Given the description of an element on the screen output the (x, y) to click on. 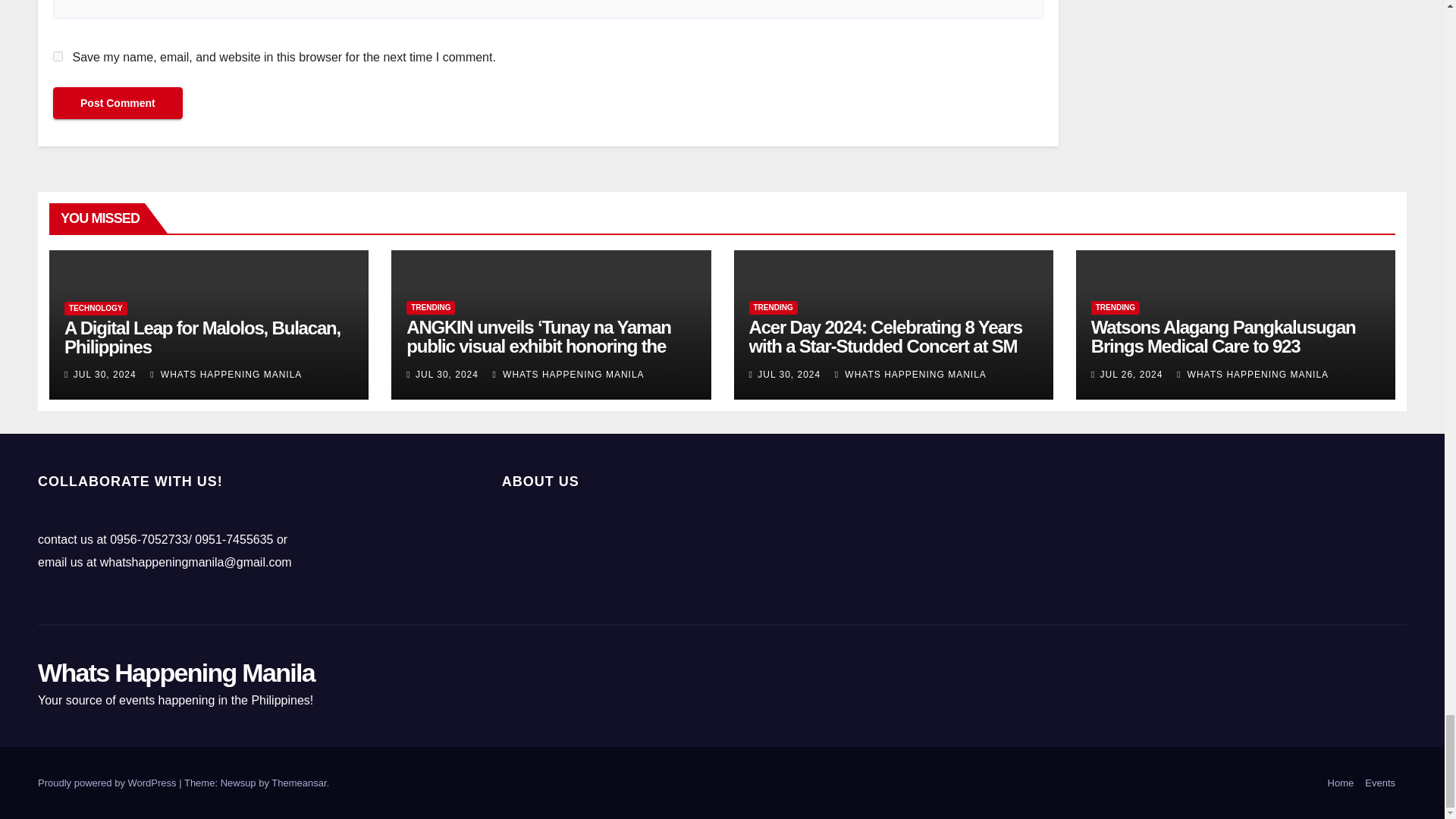
Post Comment (117, 101)
yes (57, 56)
Post Comment (117, 101)
Home (1340, 782)
